Given the description of an element on the screen output the (x, y) to click on. 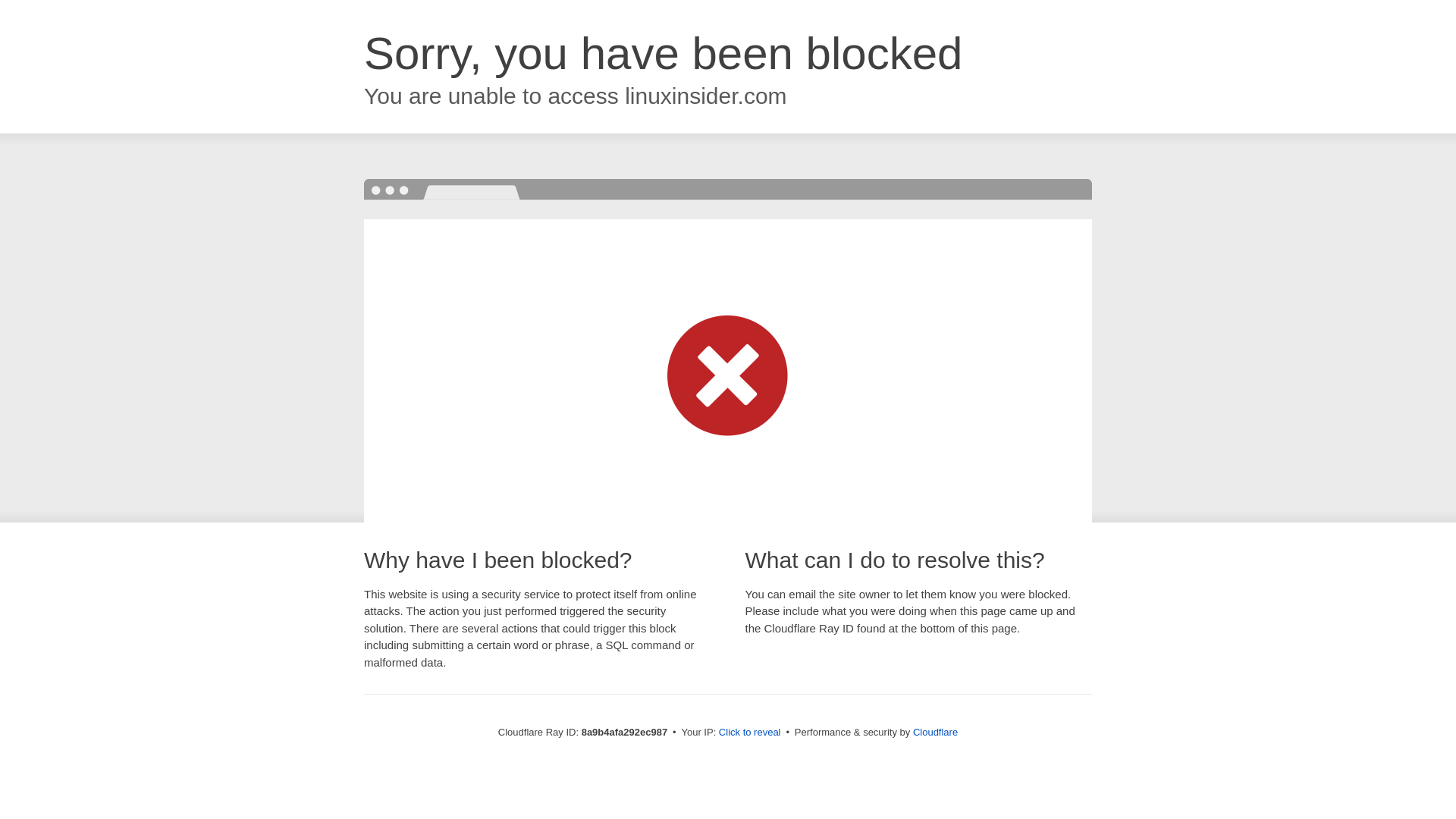
Click to reveal (749, 732)
Cloudflare (935, 731)
